Given the description of an element on the screen output the (x, y) to click on. 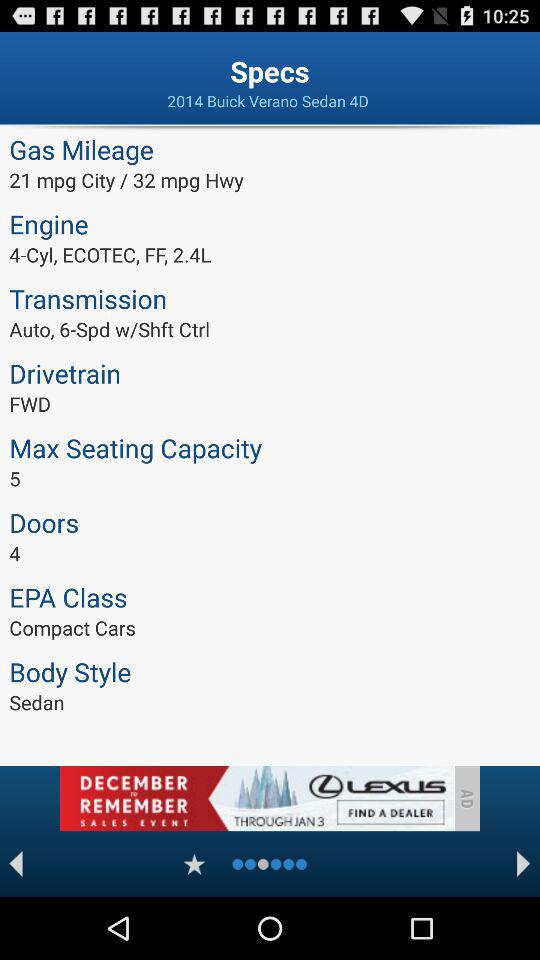
favorite (194, 864)
